Given the description of an element on the screen output the (x, y) to click on. 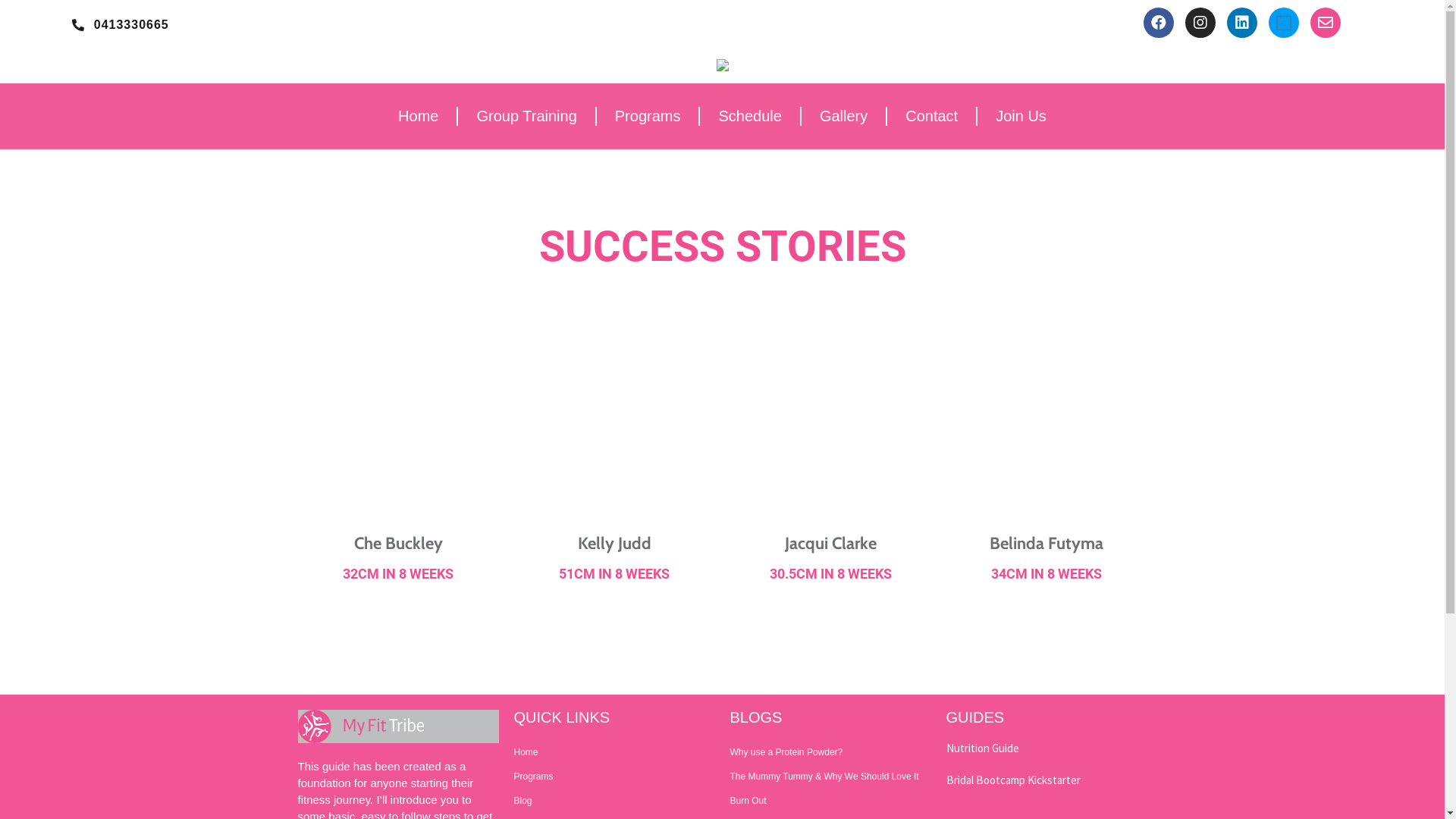
Blog Element type: text (614, 800)
Bridal Bootcamp Kickstarter Element type: text (1013, 779)
Schedule Element type: text (749, 115)
MFT_Logo_White_Background-removebg-preview Element type: hover (721, 67)
logo-hollow-pink-white Element type: hover (360, 726)
Programs Element type: text (614, 776)
0413330665 Element type: text (120, 25)
Group Training Element type: text (526, 115)
Che Buckley Element type: text (397, 543)
Join Us Element type: text (1020, 115)
Programs Element type: text (647, 115)
Home Element type: text (417, 115)
Nutrition Guide Element type: text (982, 747)
Kelly Judd Element type: text (614, 543)
Contact Element type: text (931, 115)
Burn Out Element type: text (829, 800)
Why use a Protein Powder? Element type: text (829, 752)
The Mummy Tummy & Why We Should Love It Element type: text (829, 776)
Home Element type: text (614, 752)
Jacqui Clarke Element type: text (829, 543)
Gallery Element type: text (843, 115)
Belinda Futyma Element type: text (1046, 543)
